Given the description of an element on the screen output the (x, y) to click on. 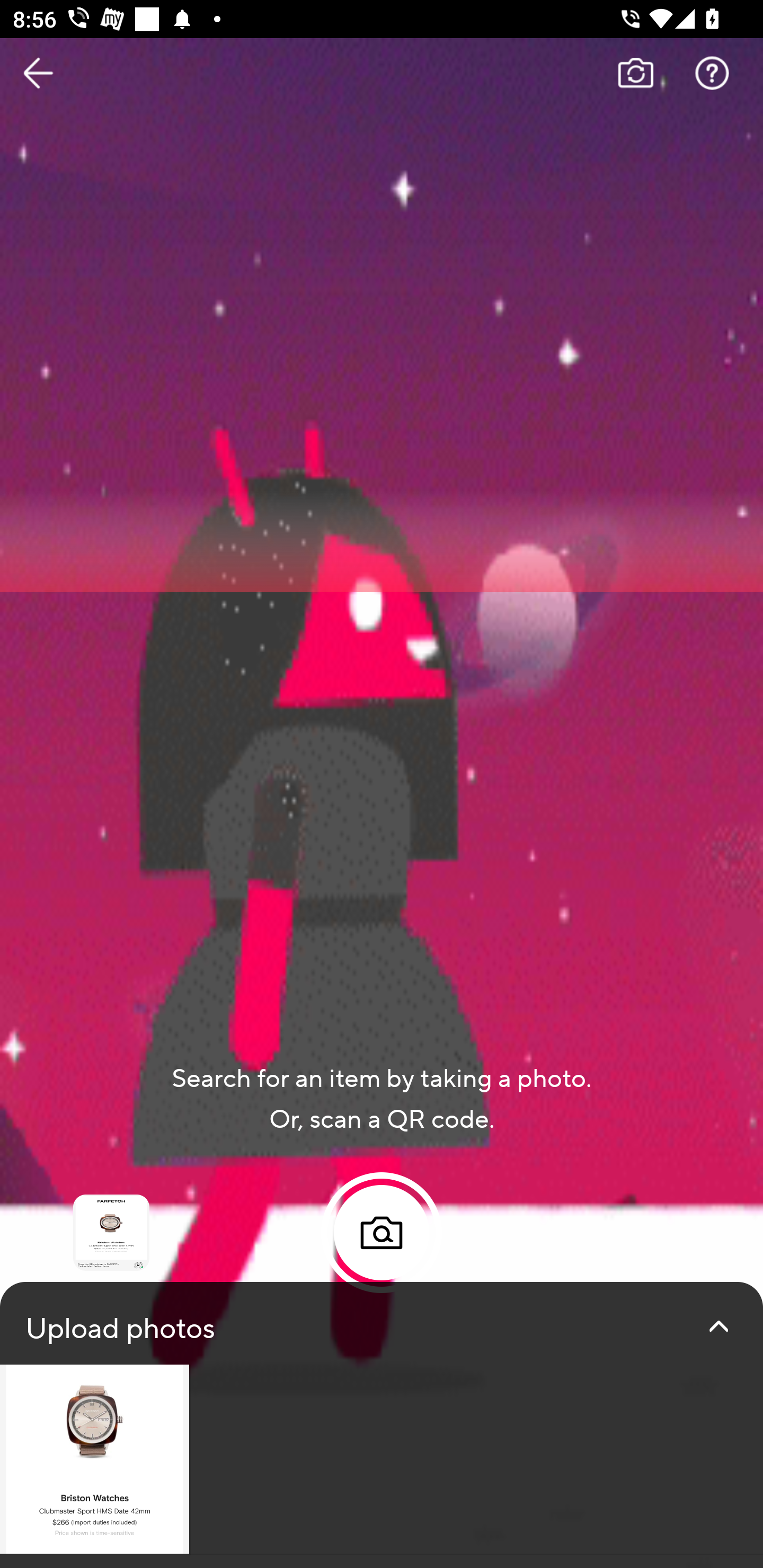
Upload photos  (381, 1425)
 (718, 1326)
